Given the description of an element on the screen output the (x, y) to click on. 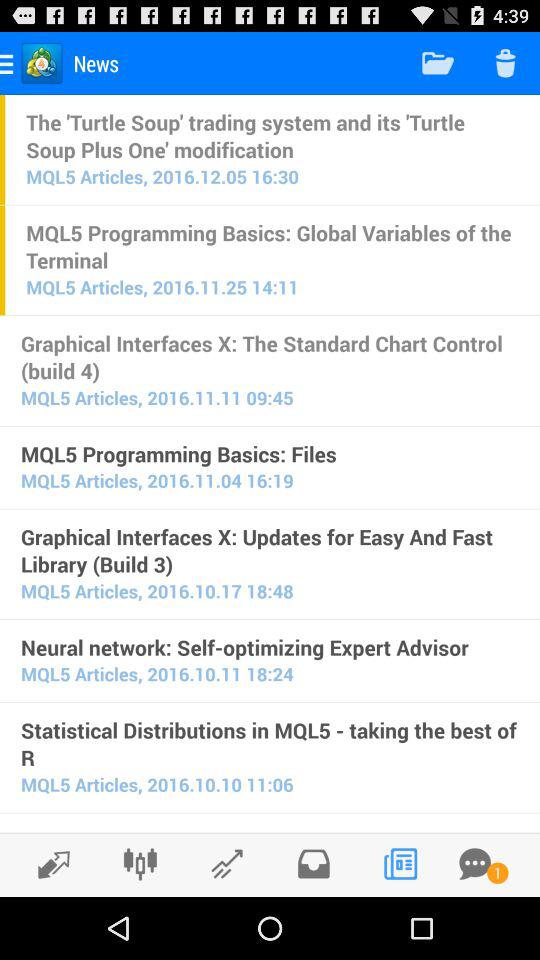
open the icon below the mql5 articles 2016 icon (270, 647)
